Given the description of an element on the screen output the (x, y) to click on. 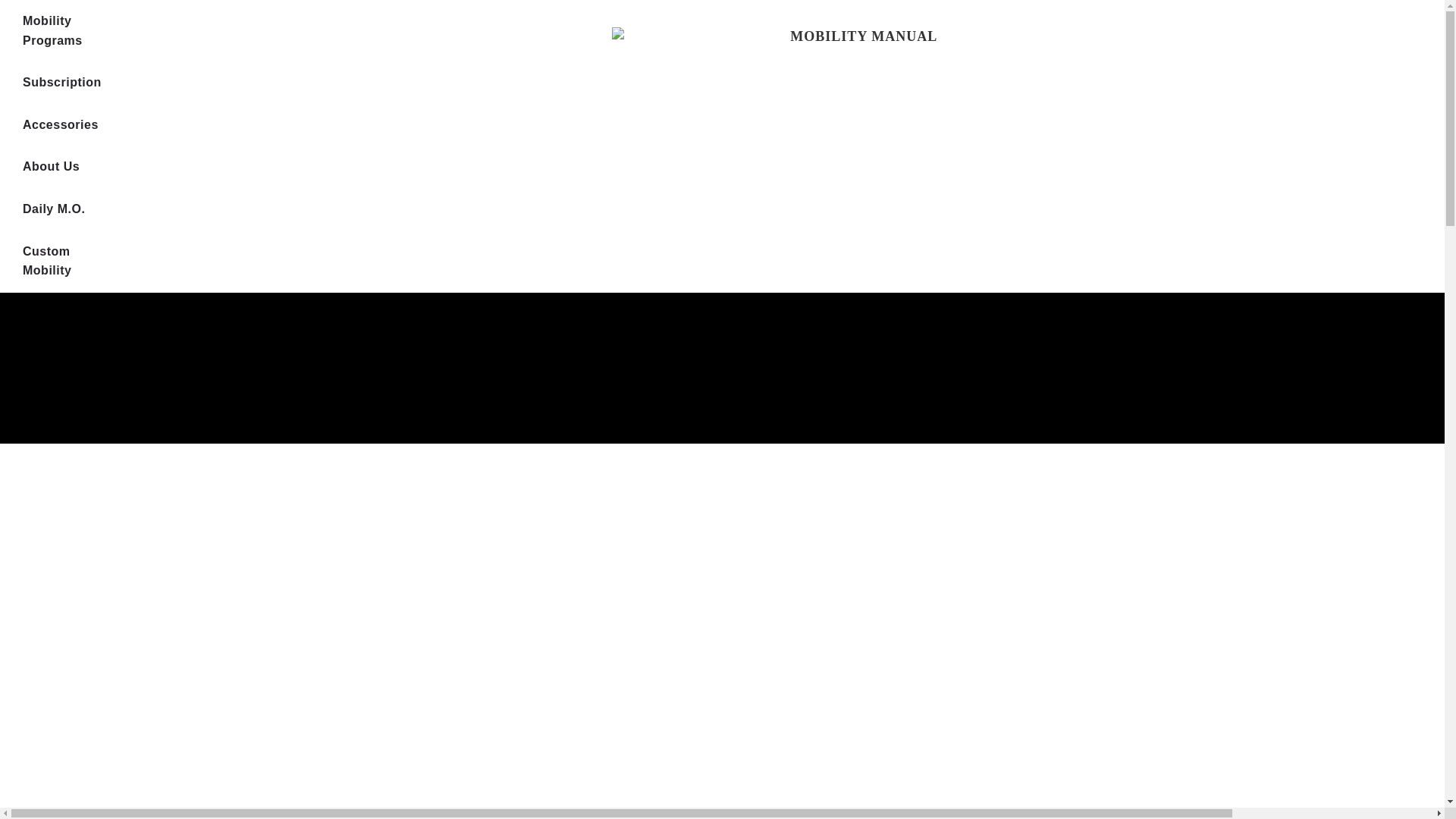
About Us (50, 166)
Accessories (60, 125)
Subscription (62, 82)
Mobility Programs (62, 30)
Daily M.O. (53, 209)
Custom Mobility (62, 260)
